Given the description of an element on the screen output the (x, y) to click on. 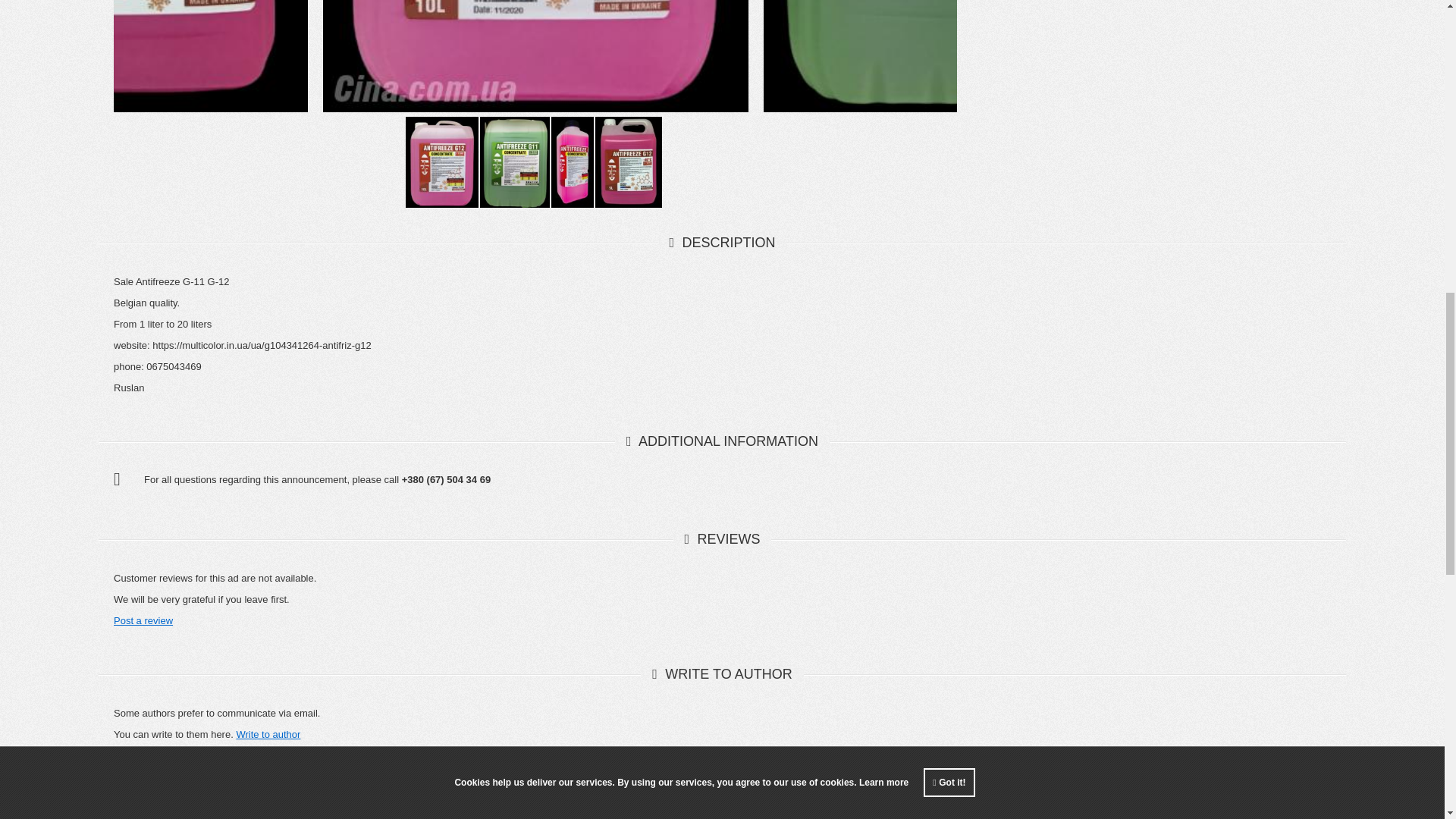
Write to author (267, 734)
Post a review (143, 620)
